Given the description of an element on the screen output the (x, y) to click on. 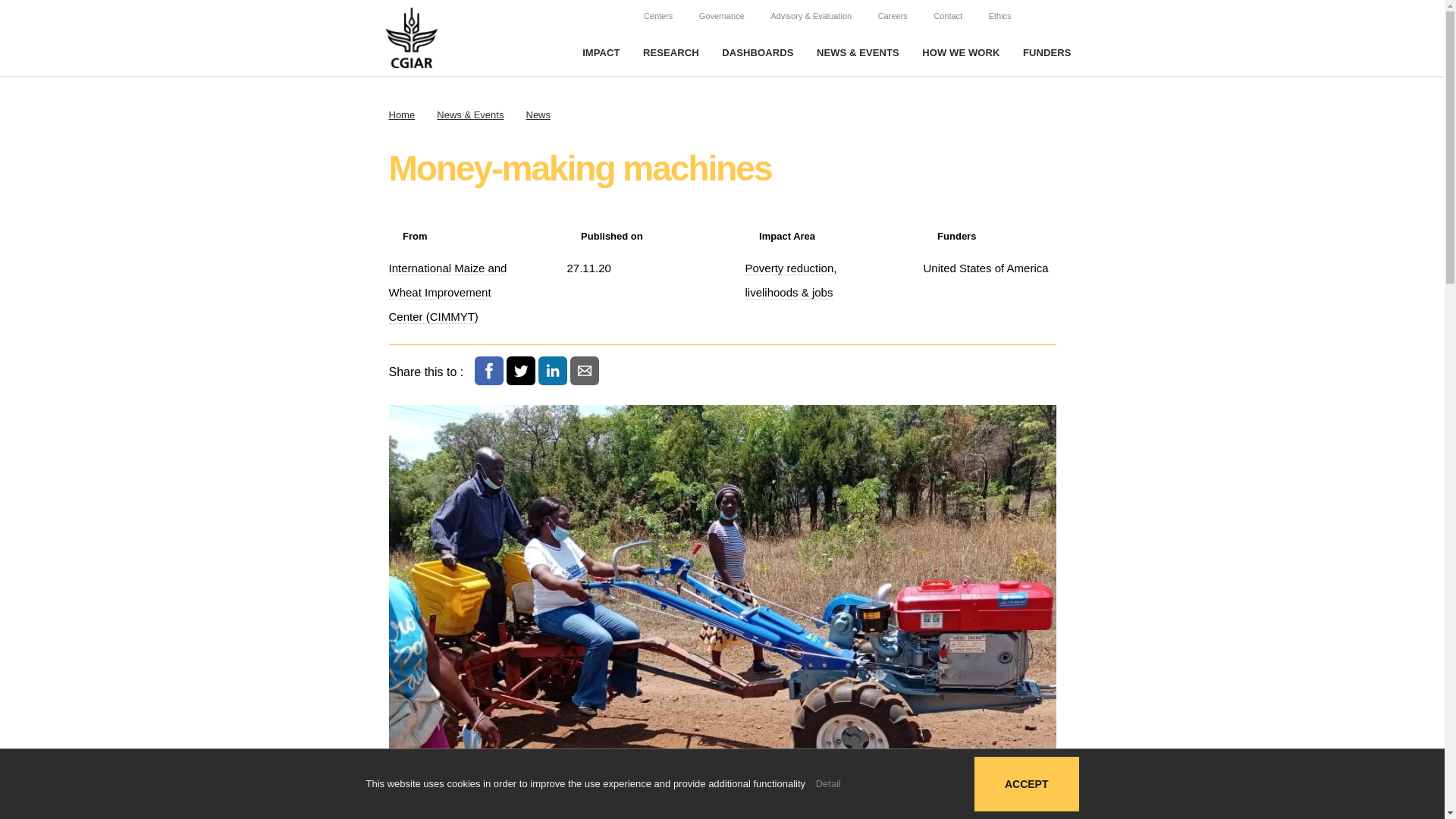
RESEARCH (670, 53)
